Given the description of an element on the screen output the (x, y) to click on. 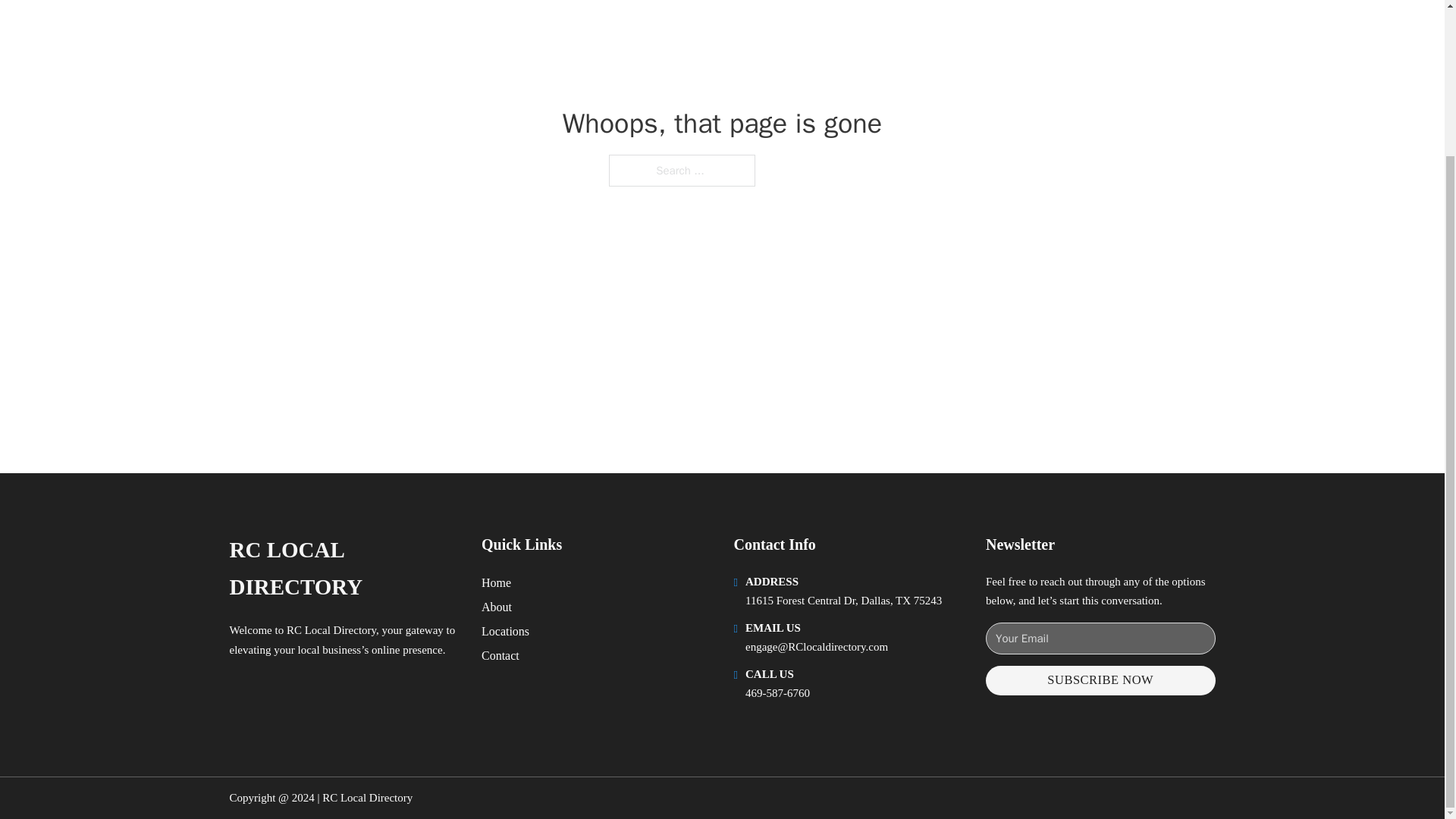
SUBSCRIBE NOW (1100, 680)
469-587-6760 (777, 693)
Locations (505, 630)
Home (496, 582)
RC LOCAL DIRECTORY (343, 568)
Contact (500, 655)
About (496, 607)
